Given the description of an element on the screen output the (x, y) to click on. 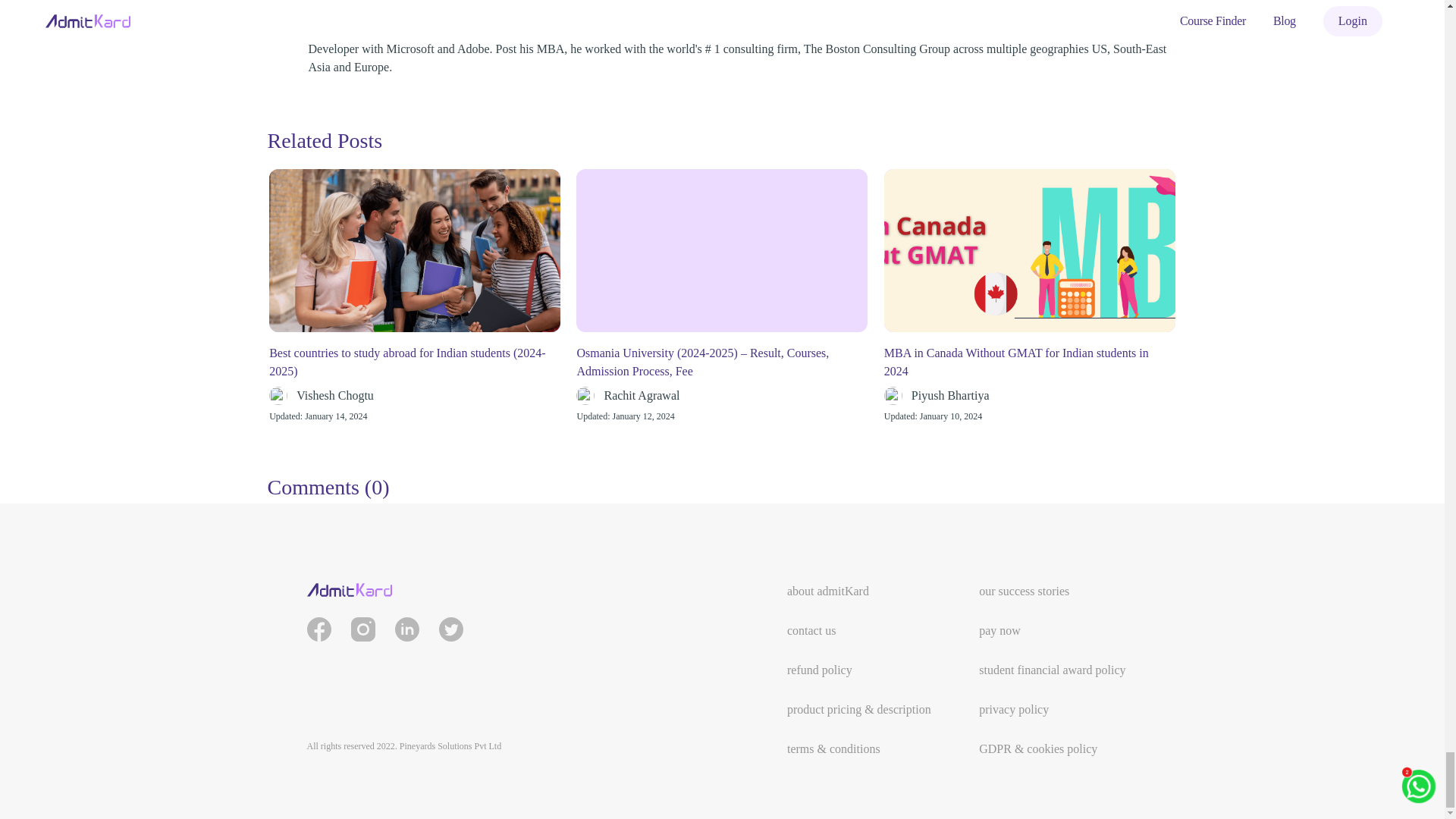
MBA in Canada Without GMAT for Indian students in 2024 (1028, 361)
refund policy (819, 669)
about admitKard (828, 590)
contact us (811, 630)
pay now (999, 630)
our success stories (1023, 590)
